Given the description of an element on the screen output the (x, y) to click on. 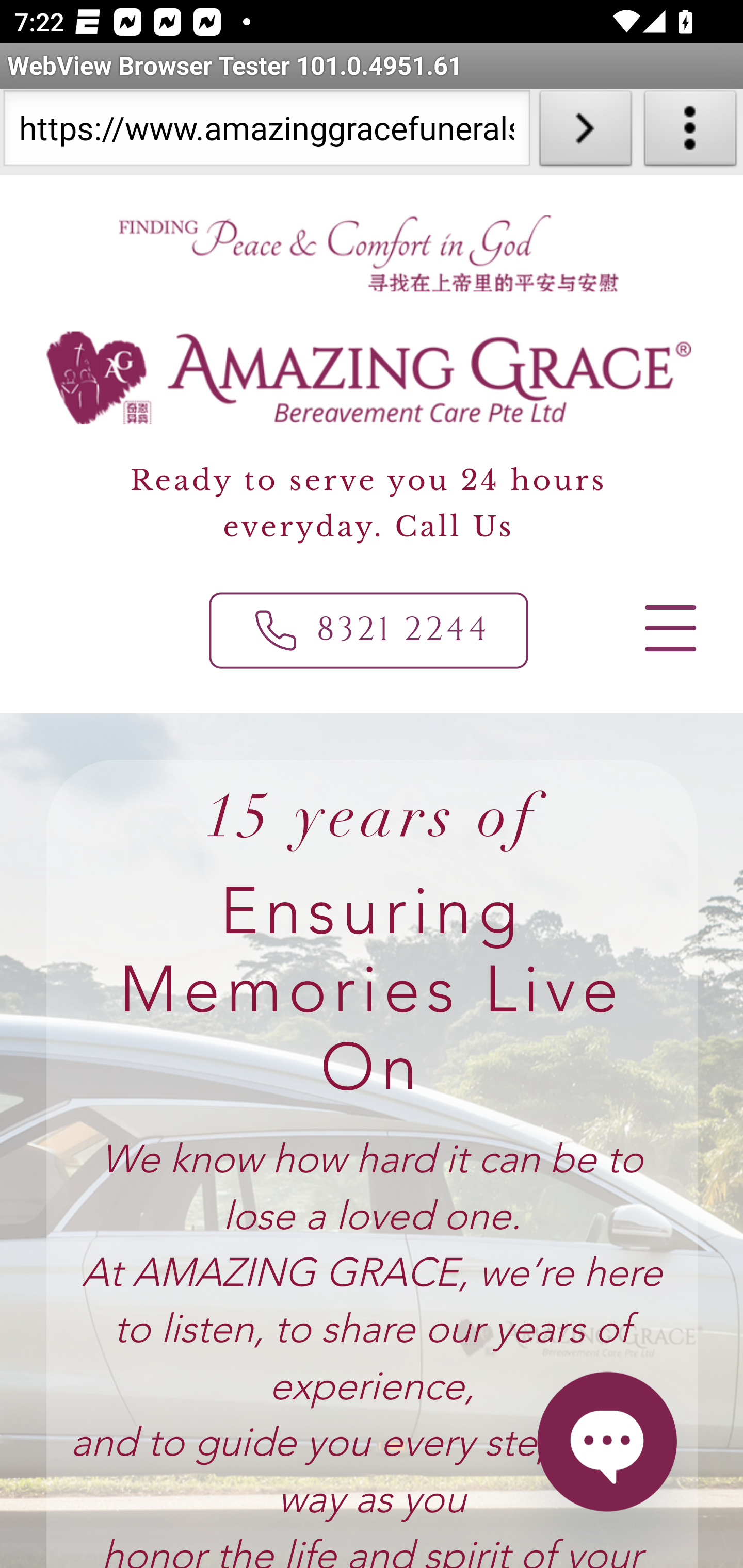
Load URL (585, 132)
About WebView (690, 132)
AG_H5 Finding God_edited.png (366, 253)
AG_H1 Logo Name_edited.png (369, 377)
Open navigation menu (669, 627)
8321 2244 (368, 630)
WhatsApp (606, 1440)
